Given the description of an element on the screen output the (x, y) to click on. 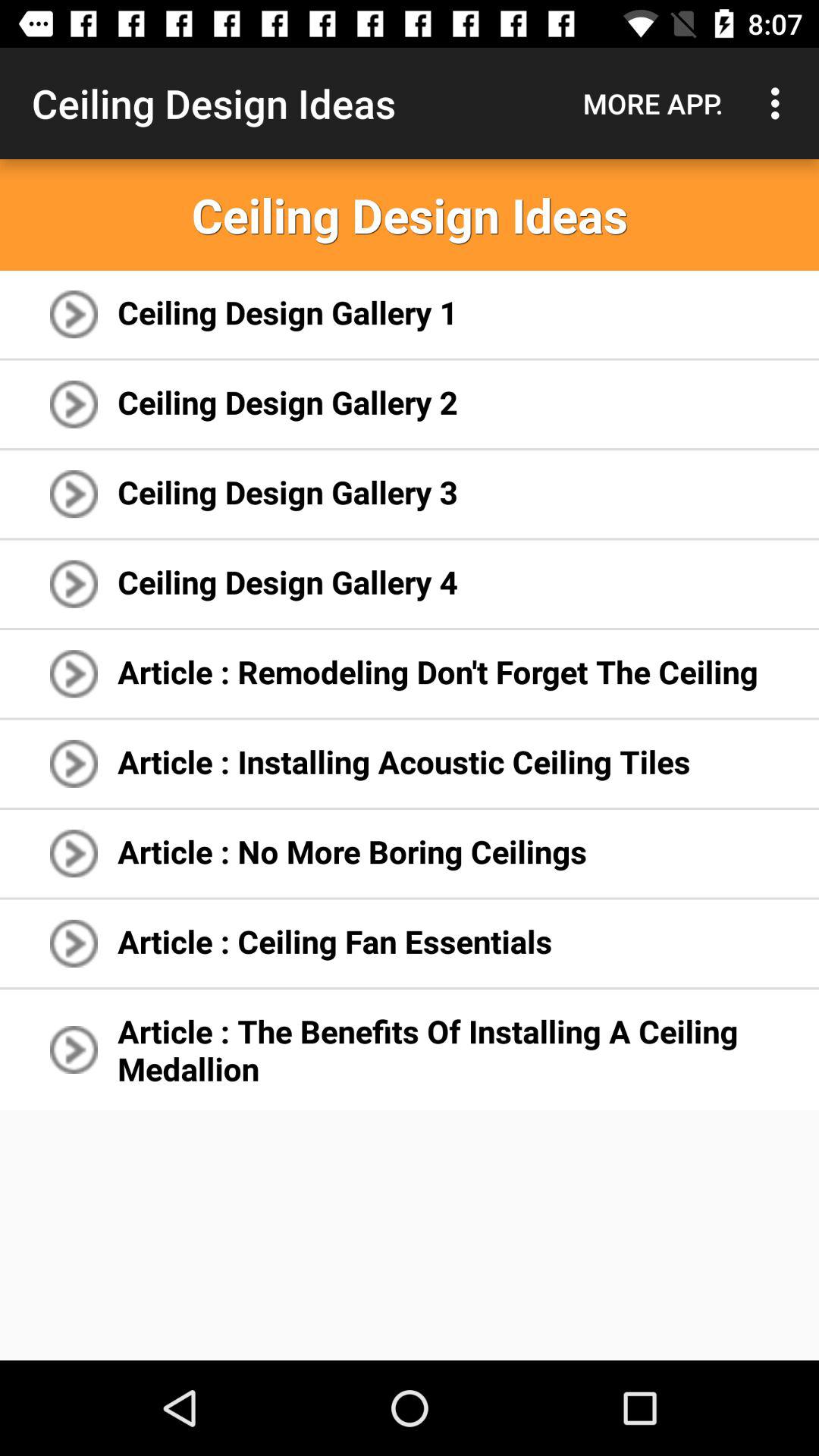
press the more app. icon (653, 103)
